Given the description of an element on the screen output the (x, y) to click on. 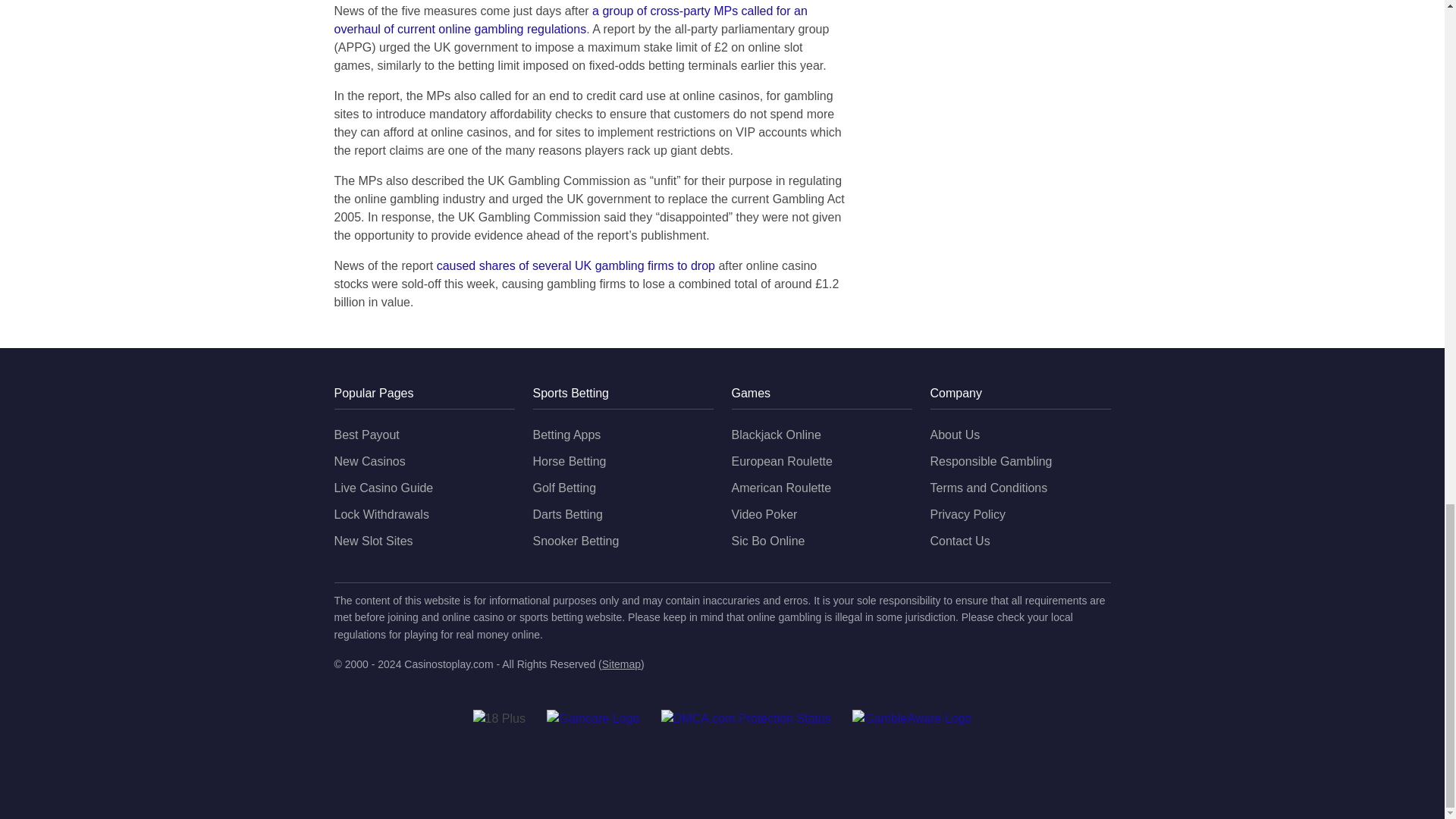
18 Plus (499, 719)
Gamcare Logo (593, 719)
GambleAware Logo (911, 719)
DMCA.com Protection Status (746, 719)
caused shares of several UK gambling firms to drop (575, 265)
